Given the description of an element on the screen output the (x, y) to click on. 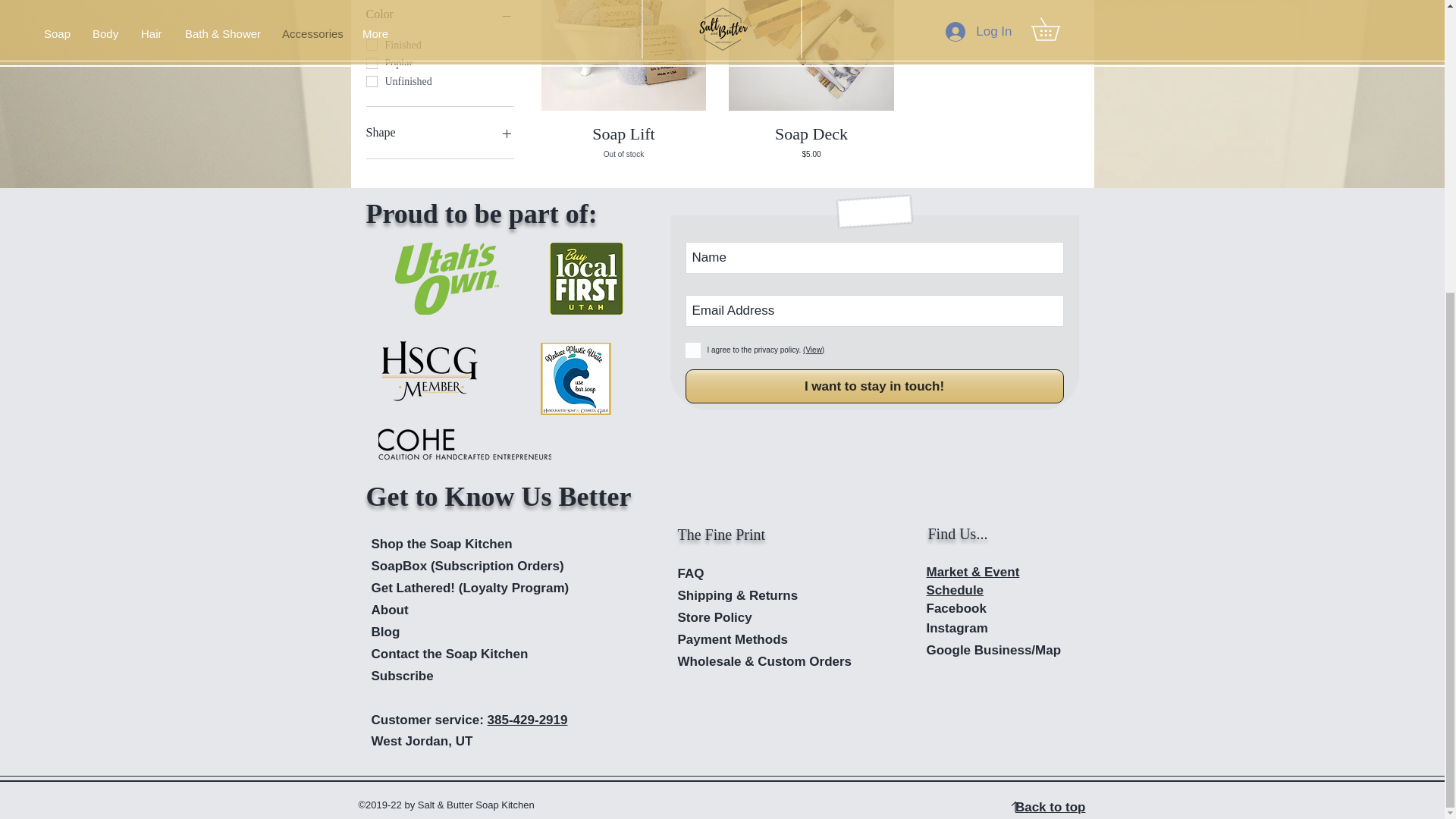
Shop the Soap Kitchen (441, 544)
Color (439, 14)
Bio-plastic (623, 55)
I want to stay in touch! (874, 386)
Shape (439, 132)
www.saltandbuttersoap.com (779, 429)
About (623, 141)
Reclaimed Wood (390, 609)
